Given the description of an element on the screen output the (x, y) to click on. 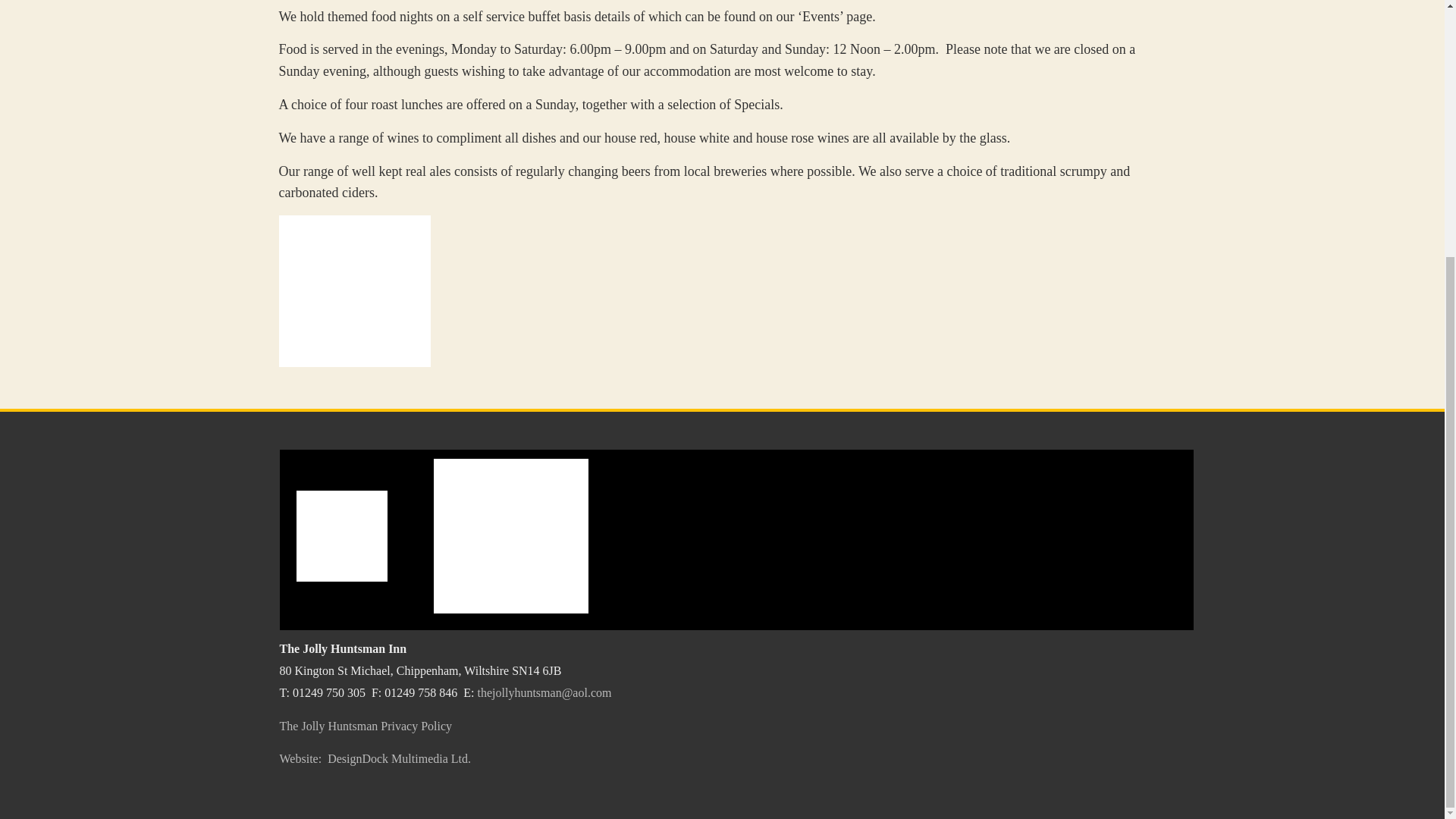
Website:  DesignDock Multimedia Ltd. (374, 758)
The Jolly Huntsman Privacy Policy (365, 725)
